Given the description of an element on the screen output the (x, y) to click on. 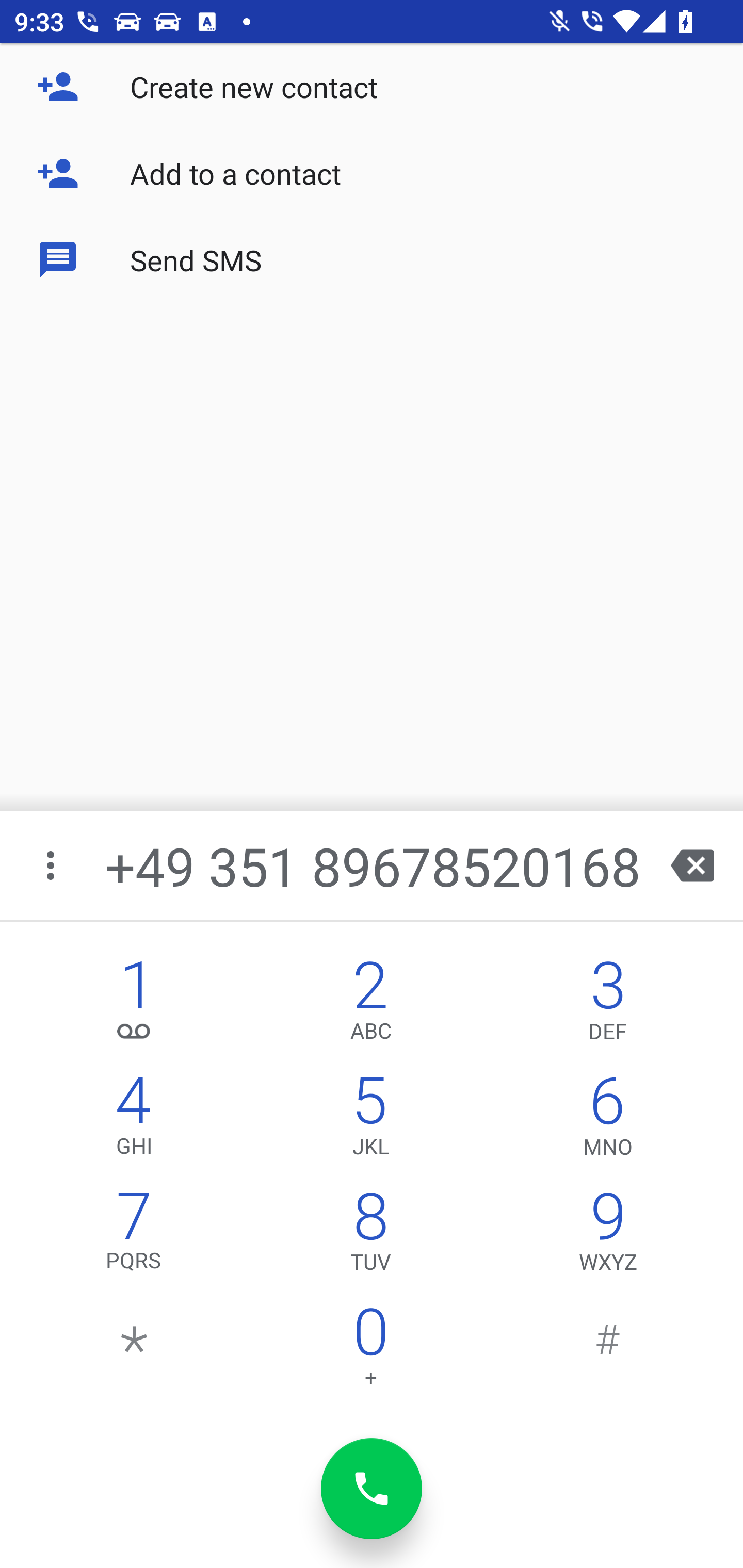
Create new contact (371, 86)
Add to a contact (371, 173)
Send SMS (371, 259)
+49 351 89678520168 (372, 865)
backspace (692, 865)
More options (52, 865)
1, 1 (133, 1005)
2,ABC 2 ABC (370, 1005)
3,DEF 3 DEF (607, 1005)
4,GHI 4 GHI (133, 1120)
5,JKL 5 JKL (370, 1120)
6,MNO 6 MNO (607, 1120)
7,PQRS 7 PQRS (133, 1235)
8,TUV 8 TUV (370, 1235)
9,WXYZ 9 WXYZ (607, 1235)
* (133, 1351)
0 0 + (370, 1351)
# (607, 1351)
dial (371, 1488)
